Given the description of an element on the screen output the (x, y) to click on. 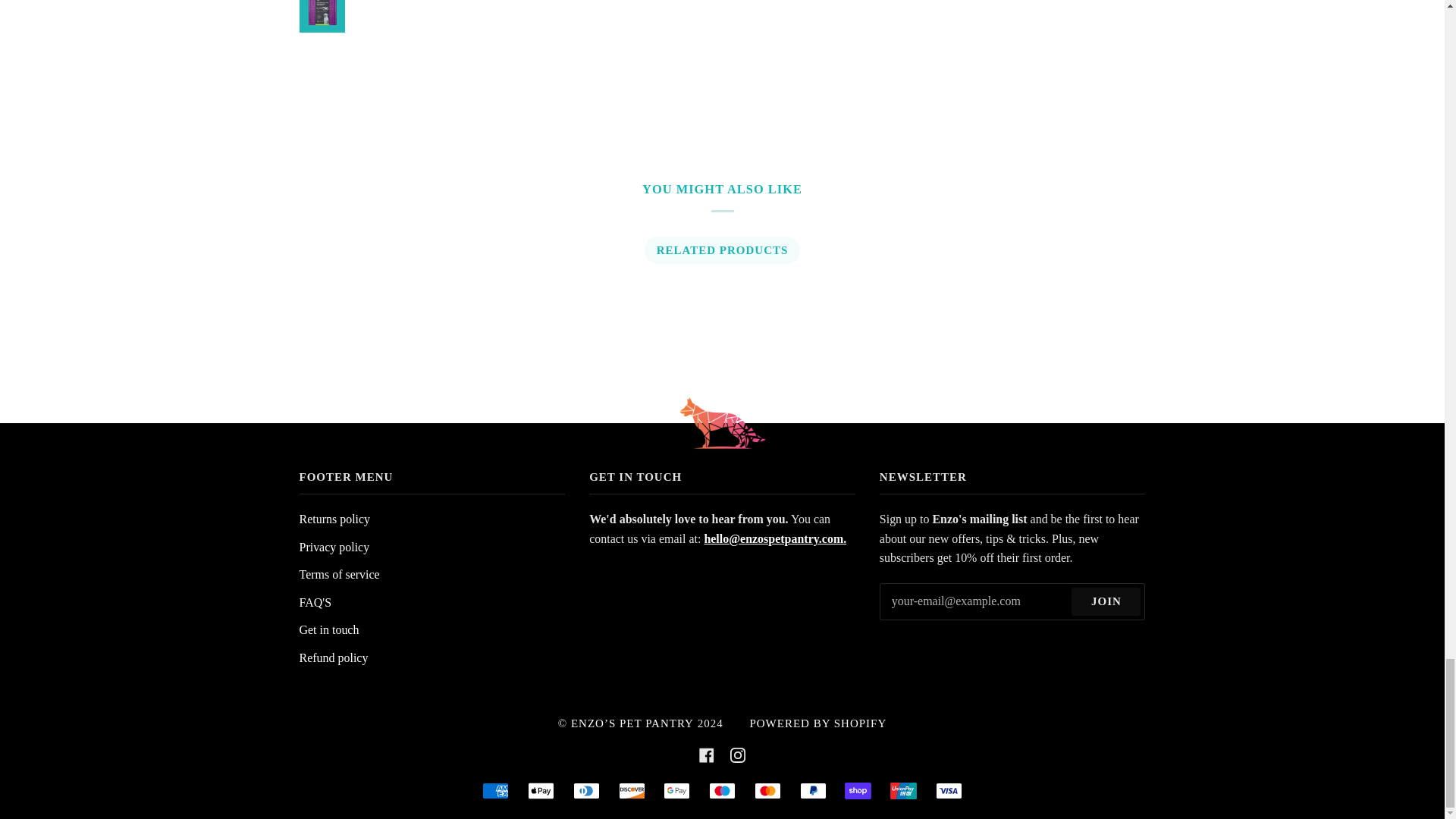
APPLE PAY (540, 790)
MAESTRO (722, 790)
Instagram (737, 754)
Facebook (706, 754)
GOOGLE PAY (676, 790)
AMERICAN EXPRESS (494, 790)
RELATED PRODUCTS (721, 249)
UNION PAY (903, 790)
MASTERCARD (767, 790)
VISA (949, 790)
DINERS CLUB (586, 790)
SHOP PAY (857, 790)
DISCOVER (631, 790)
PAYPAL (812, 790)
